Given the description of an element on the screen output the (x, y) to click on. 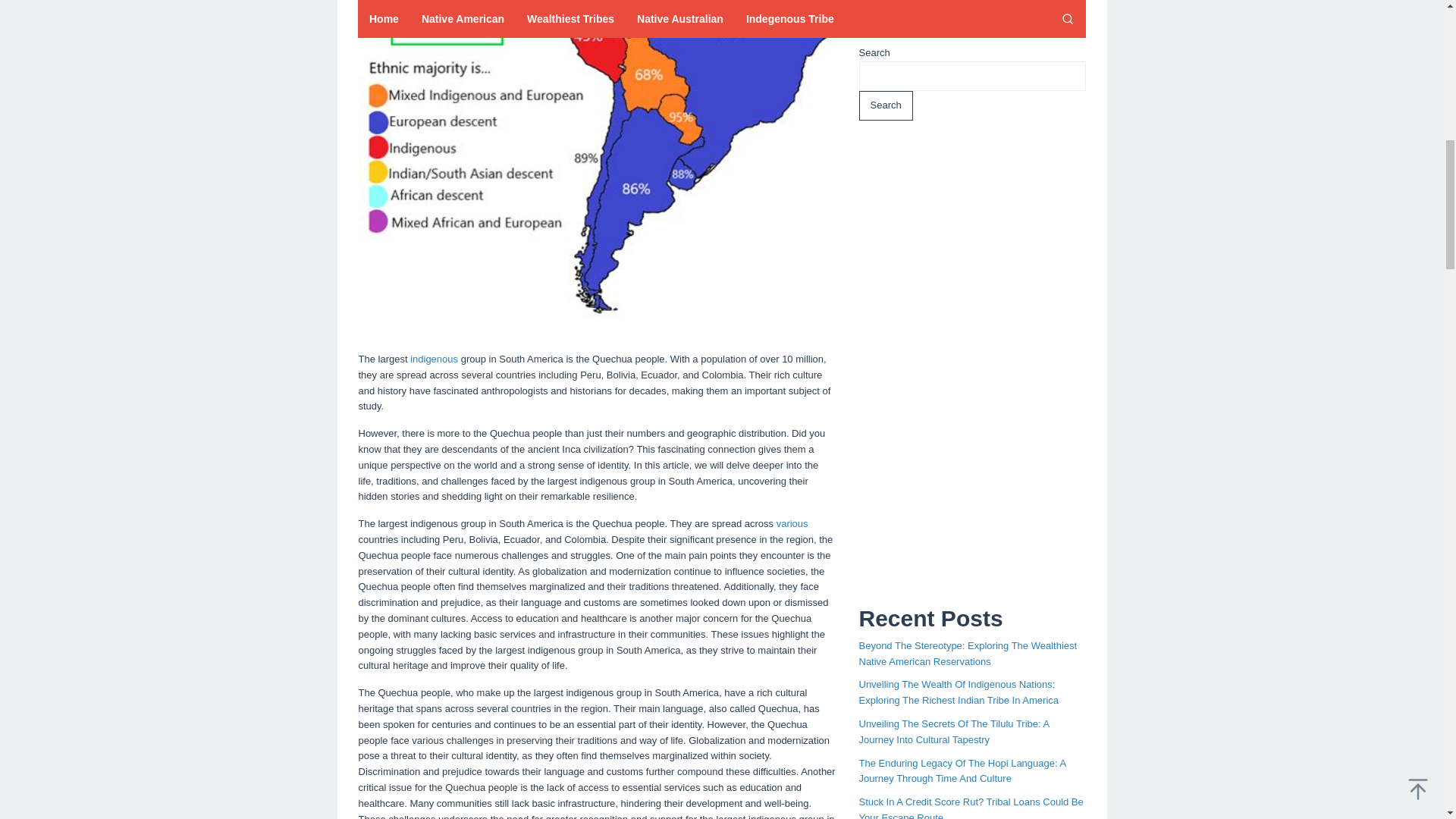
indigenous (434, 358)
various (792, 523)
